Given the description of an element on the screen output the (x, y) to click on. 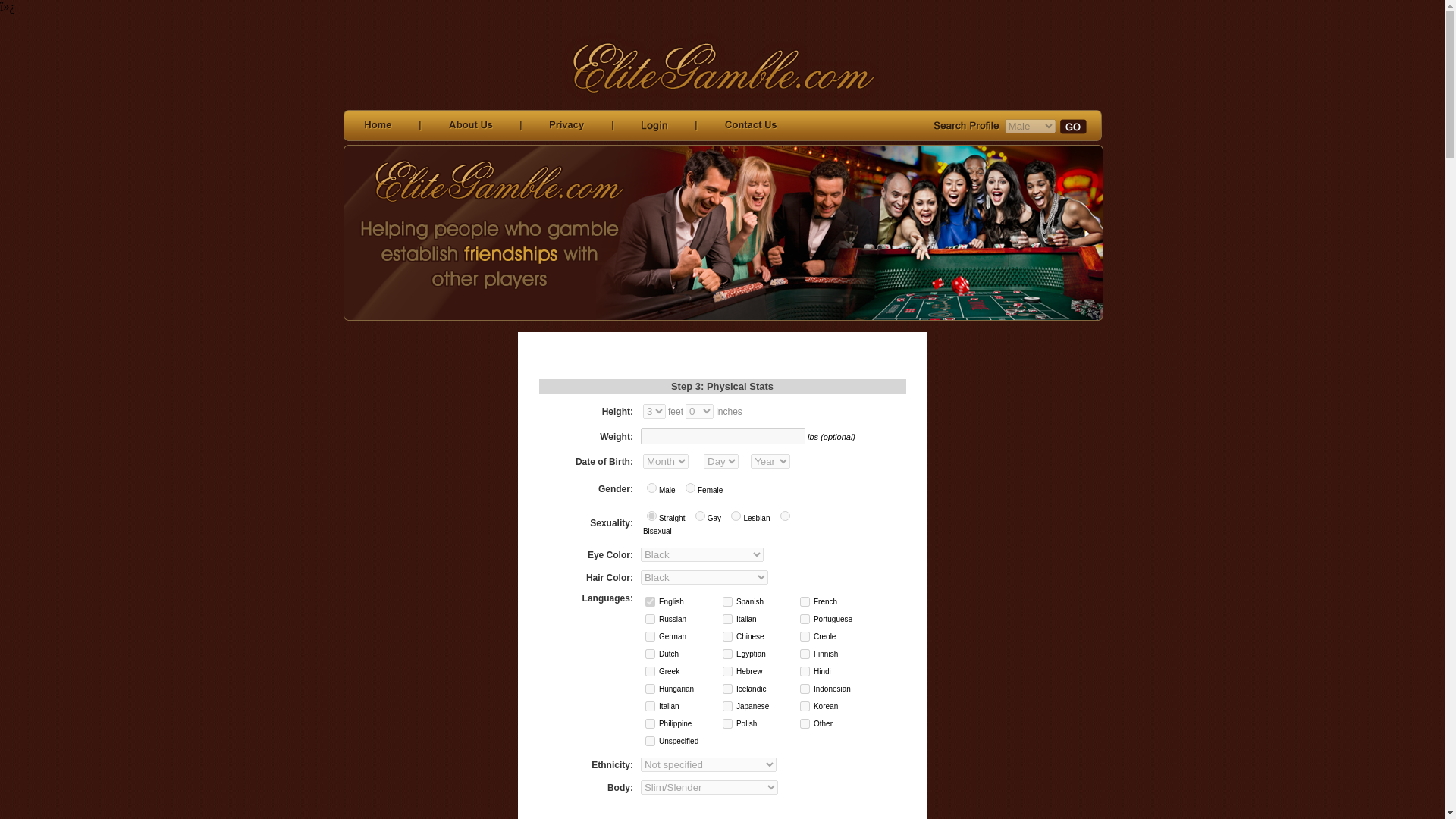
B5 (804, 654)
A4 (650, 619)
L (735, 515)
A2 (727, 601)
A6 (804, 619)
A7 (650, 636)
B6 (650, 671)
A1 (650, 601)
B2 (804, 636)
A3 (804, 601)
B1 (727, 636)
B4 (727, 654)
F (690, 488)
M (651, 488)
B (785, 515)
